Given the description of an element on the screen output the (x, y) to click on. 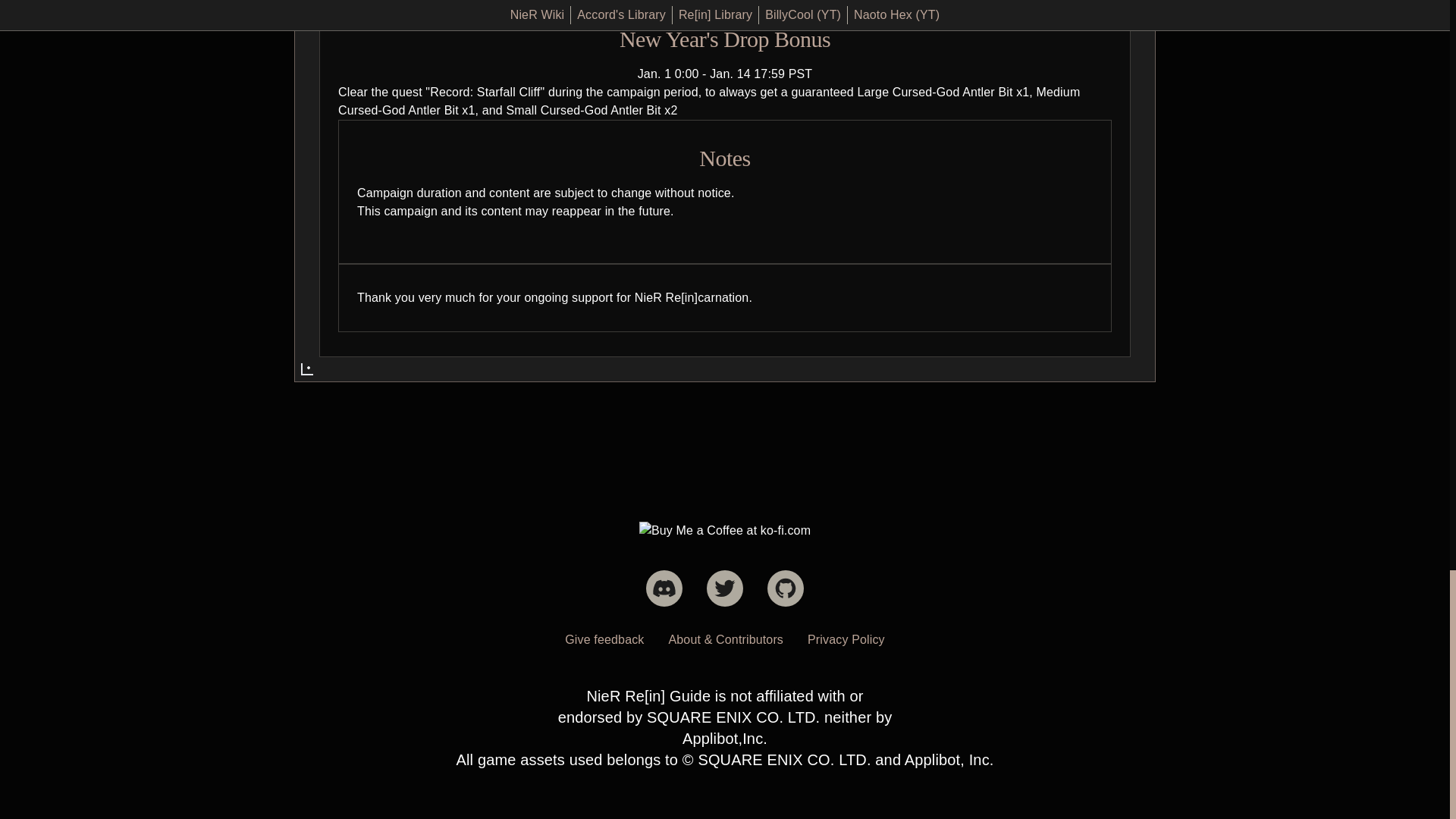
Privacy Policy (846, 639)
Give feedback (603, 639)
